Given the description of an element on the screen output the (x, y) to click on. 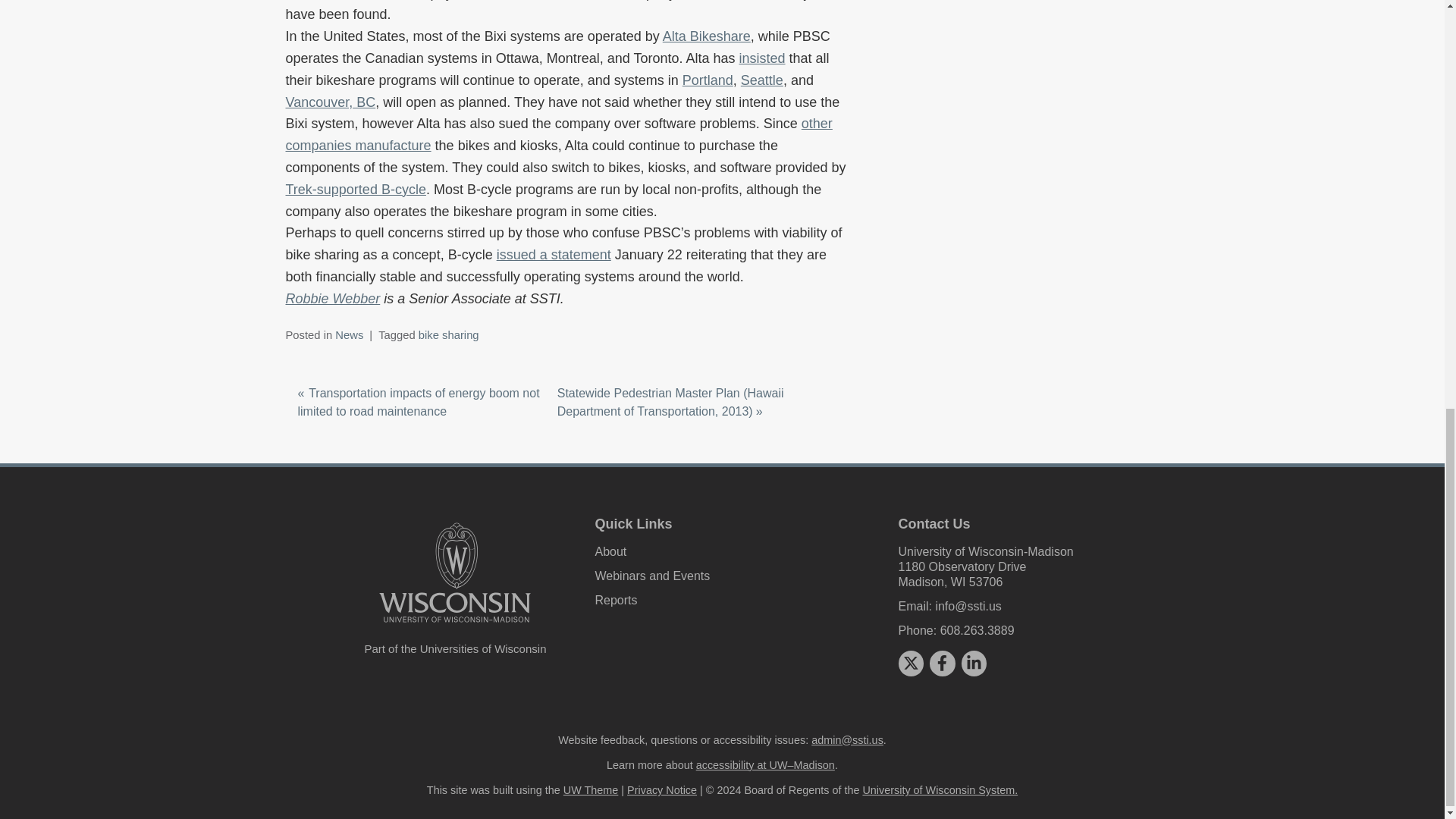
linkedin (973, 662)
x twitter (910, 662)
facebook (941, 662)
University logo that links to main university website (454, 572)
Alta Bikeshare (706, 36)
